Given the description of an element on the screen output the (x, y) to click on. 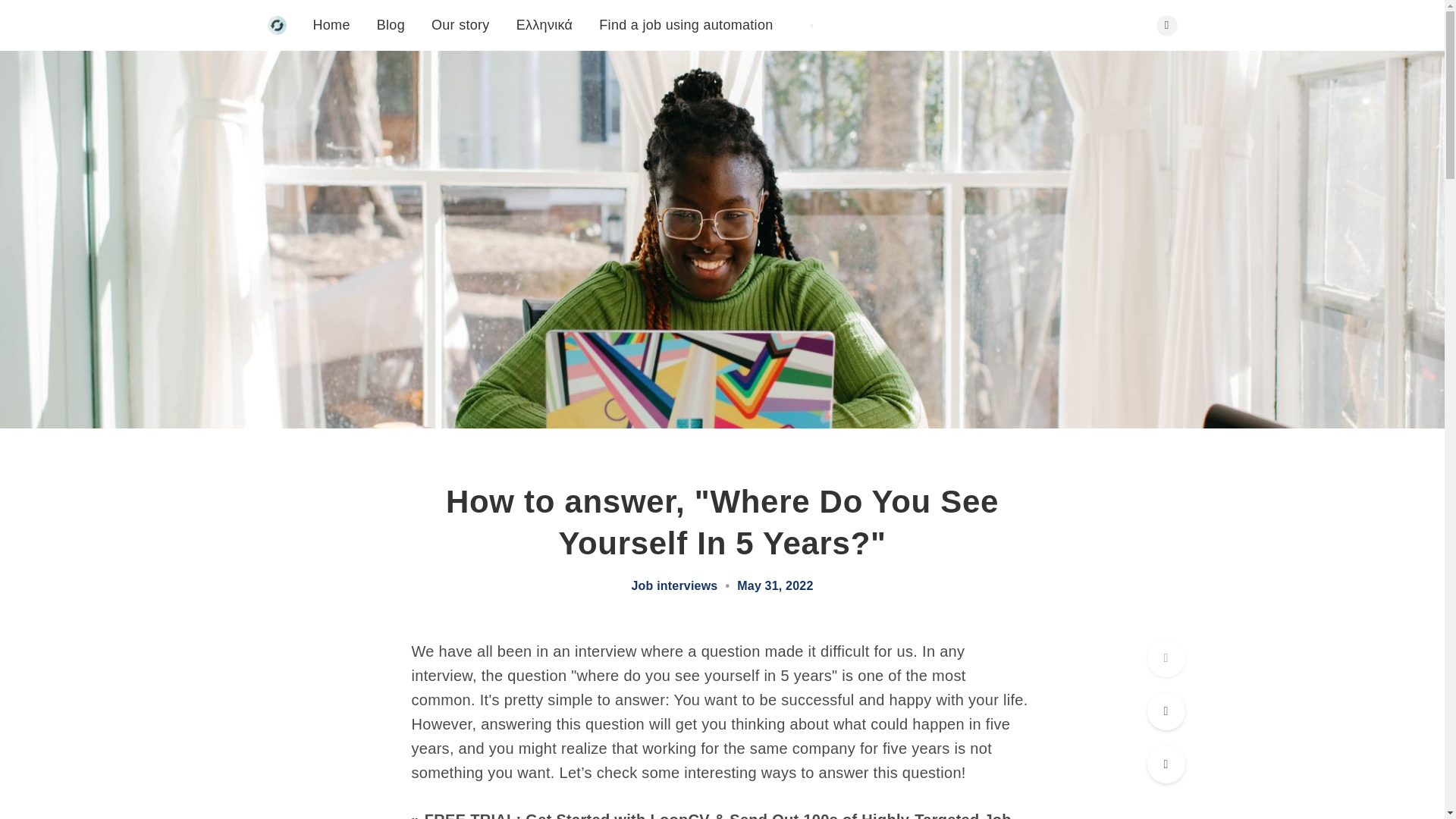
Find a job using automation (685, 24)
Our story (459, 24)
Blog (390, 24)
Home (331, 24)
Job interviews (673, 585)
